Given the description of an element on the screen output the (x, y) to click on. 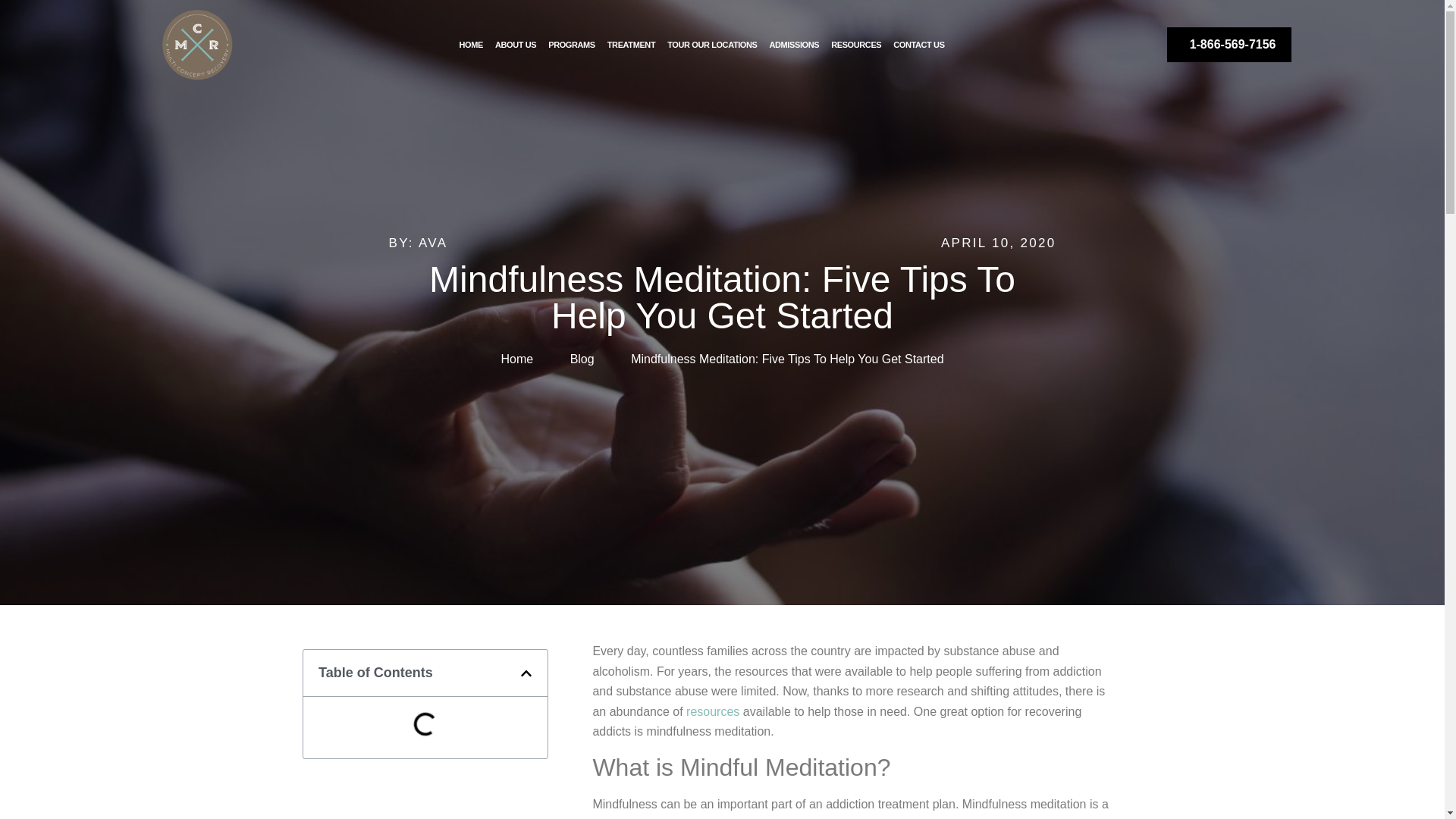
ADMISSIONS (793, 44)
ABOUT US (515, 44)
TREATMENT (631, 44)
TOUR OUR LOCATIONS (711, 44)
PROGRAMS (571, 44)
HOME (470, 44)
